Given the description of an element on the screen output the (x, y) to click on. 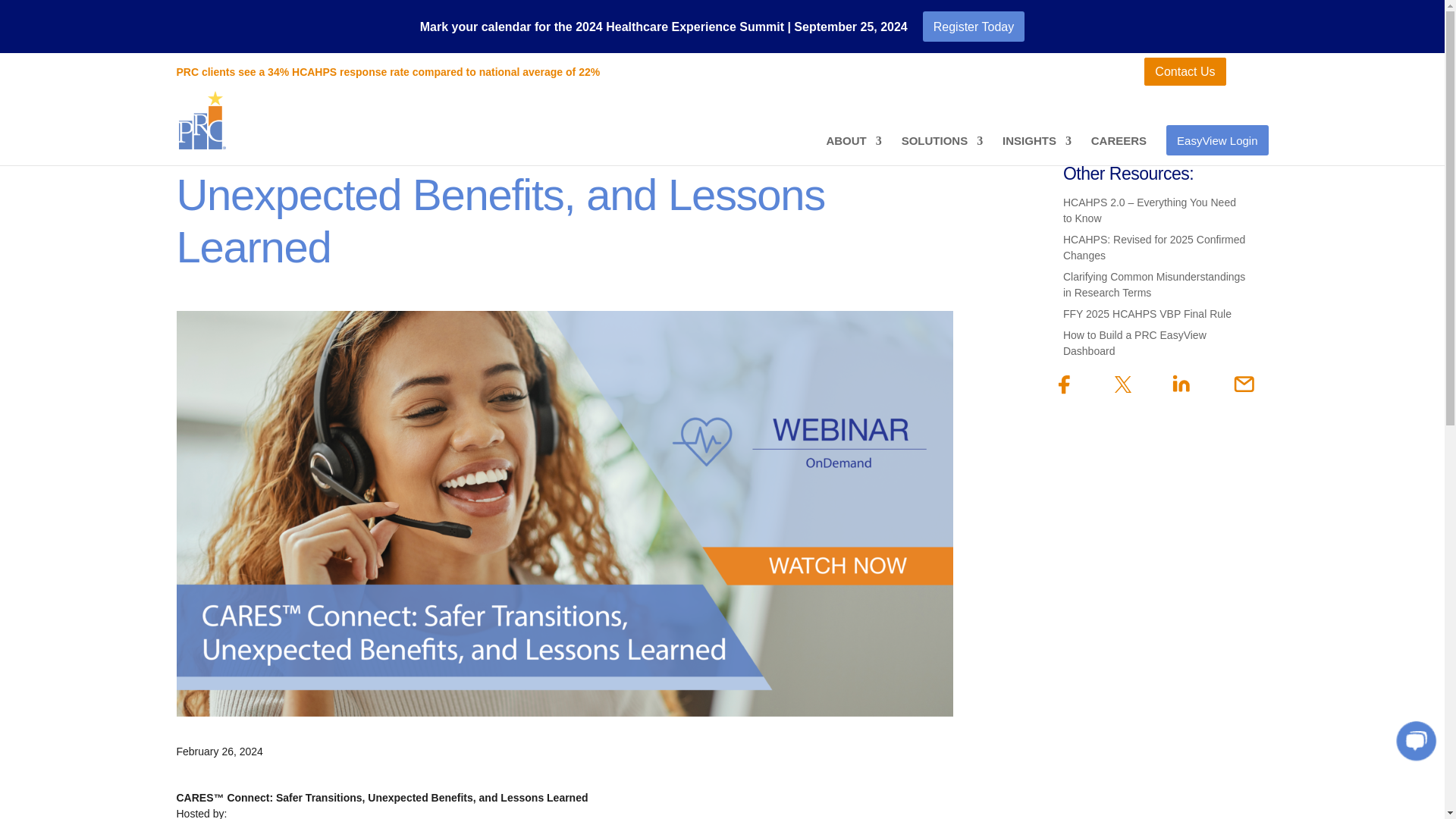
Contact Us (1184, 71)
EasyView Login (1216, 149)
SOLUTIONS (942, 150)
ABOUT (852, 150)
CAREERS (1118, 150)
Register Today (974, 26)
INSIGHTS (1037, 150)
